Given the description of an element on the screen output the (x, y) to click on. 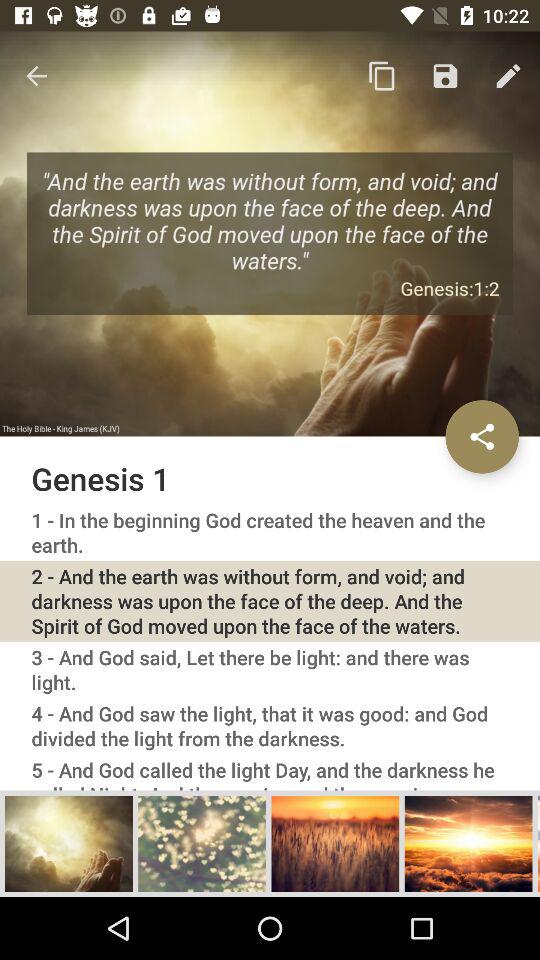
enlarge image (468, 843)
